Given the description of an element on the screen output the (x, y) to click on. 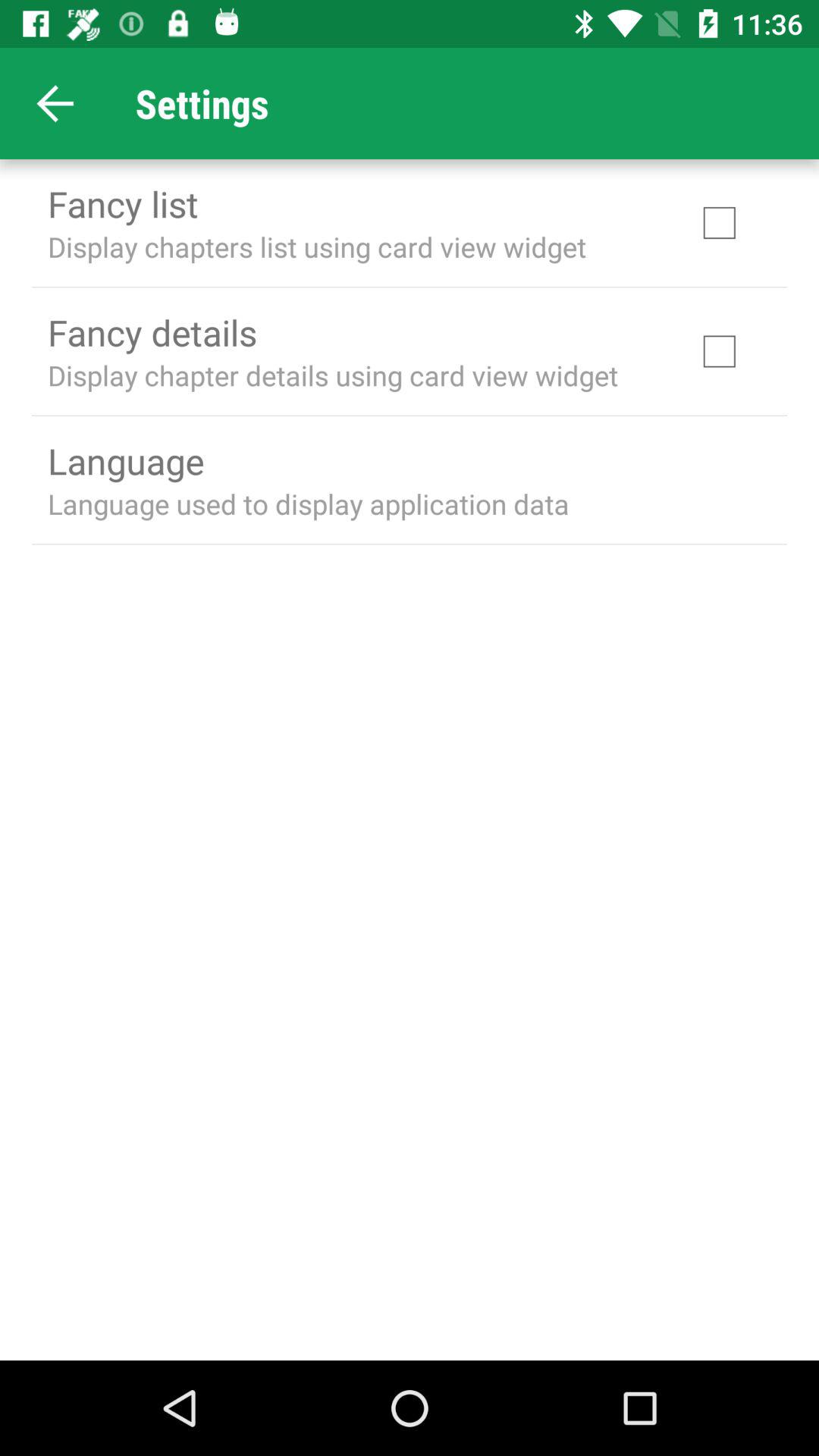
press item next to settings (55, 103)
